Given the description of an element on the screen output the (x, y) to click on. 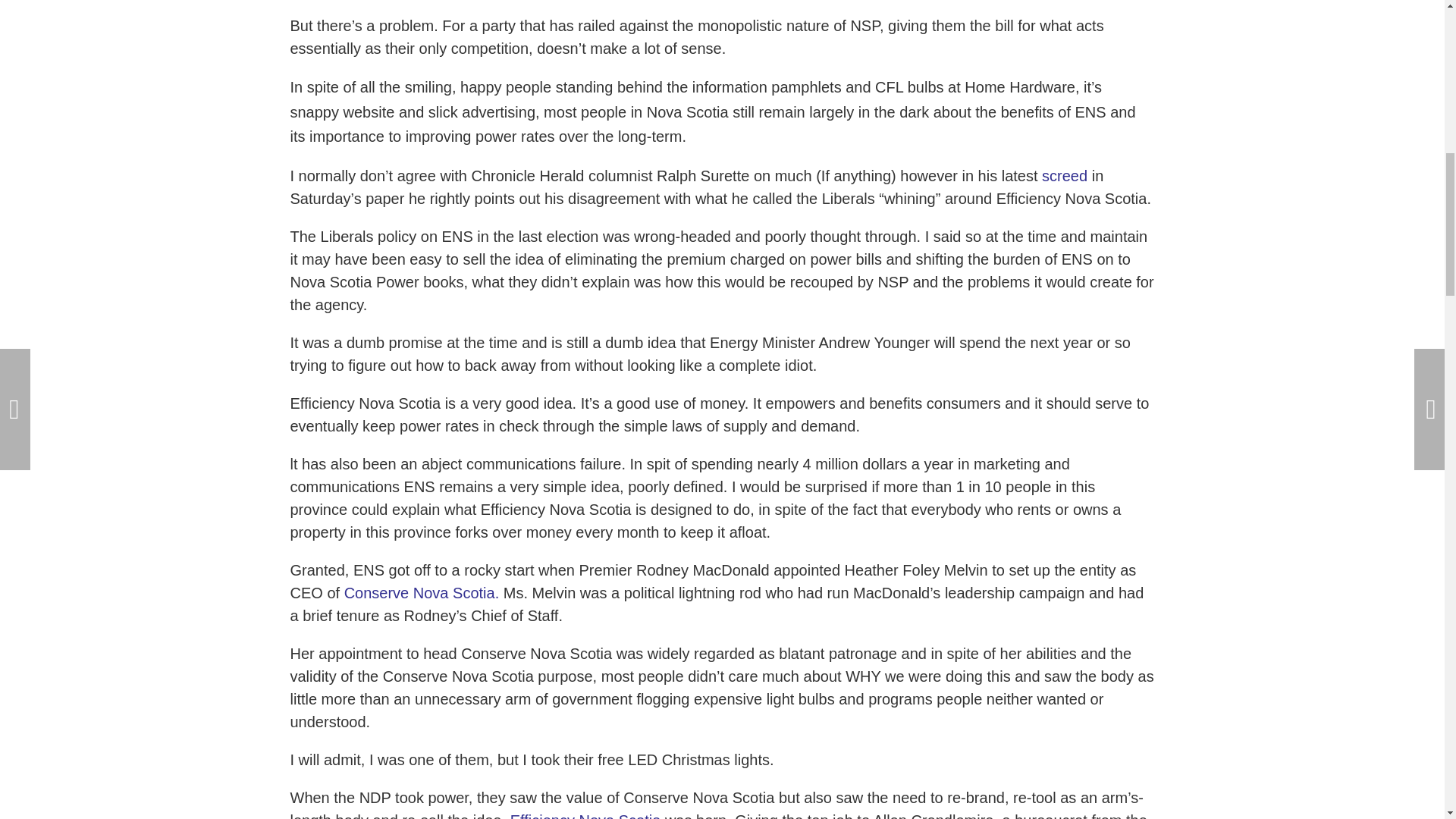
Efficiency Nova Scotia (586, 815)
 screed (1062, 175)
Conserve Nova Scotia. (421, 592)
